Given the description of an element on the screen output the (x, y) to click on. 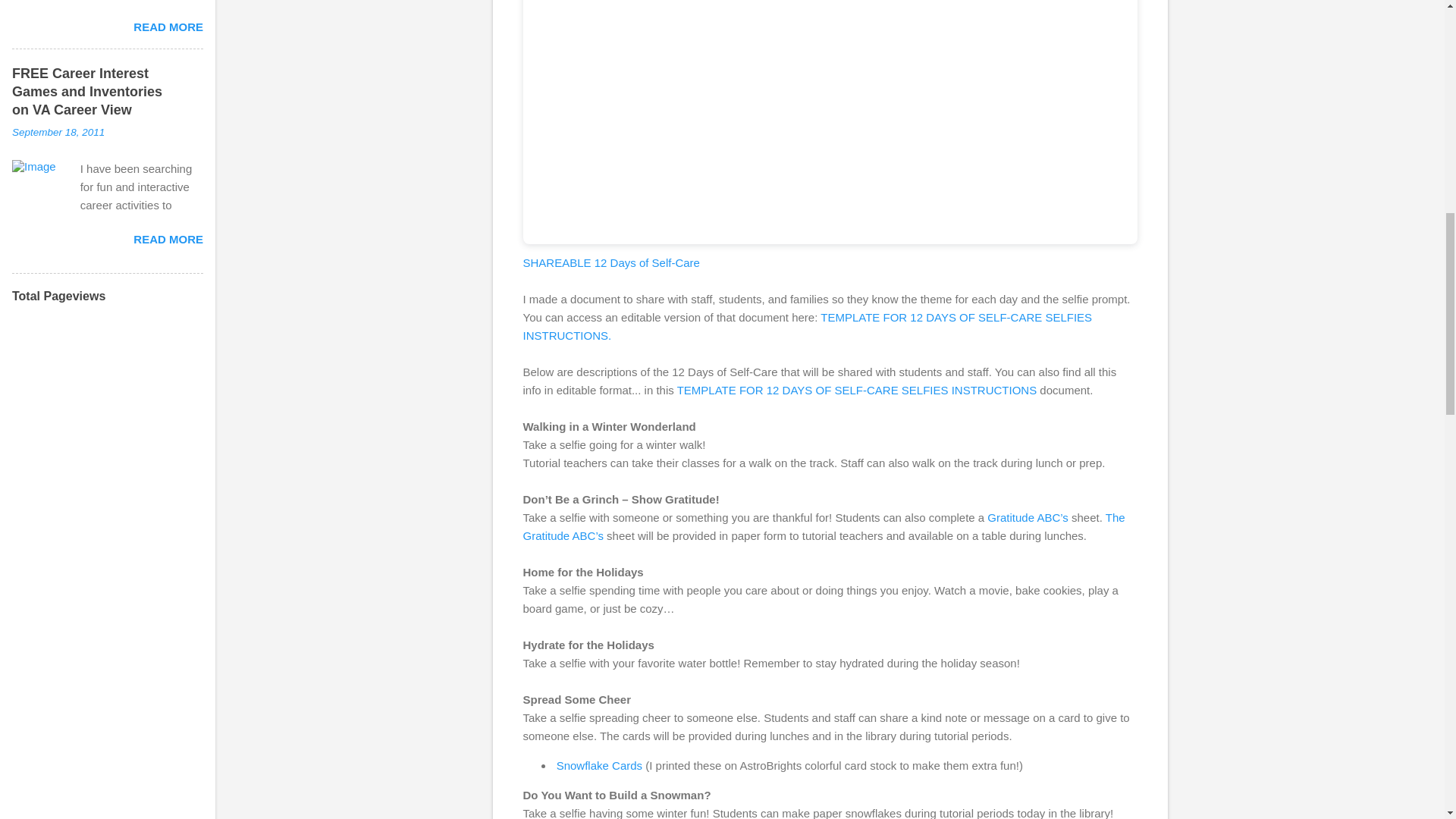
TEMPLATE FOR 12 DAYS OF SELF-CARE SELFIES INSTRUCTIONS. (807, 326)
TEMPLATE FOR 12 DAYS OF SELF-CARE SELFIES INSTRUCTIONS (856, 390)
SHAREABLE 12 Days of Self-Care (611, 262)
Snowflake Cards (599, 765)
